Given the description of an element on the screen output the (x, y) to click on. 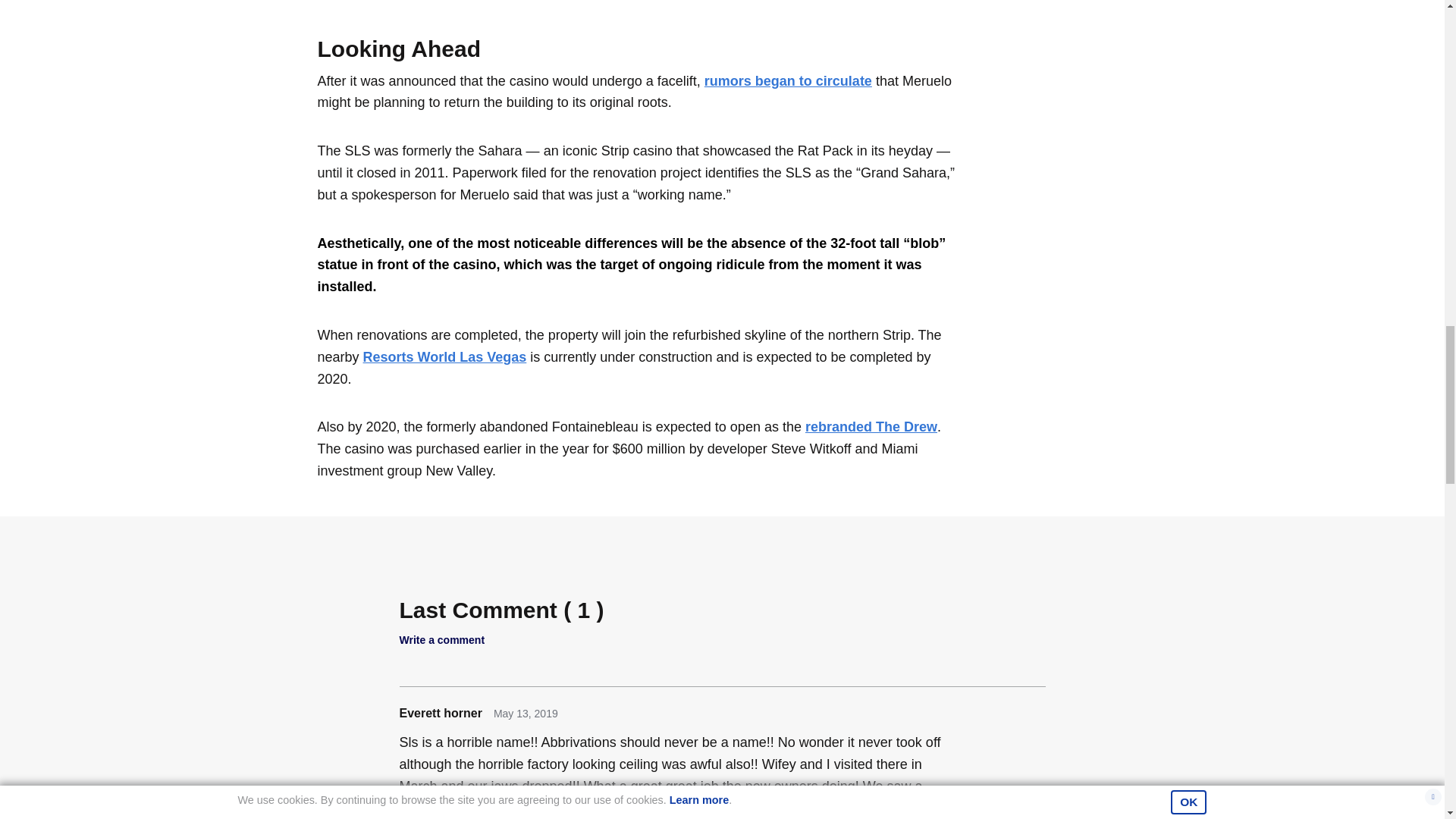
rumors began to circulate (788, 80)
Resorts World Las Vegas (444, 356)
rebranded The Drew (871, 426)
